Given the description of an element on the screen output the (x, y) to click on. 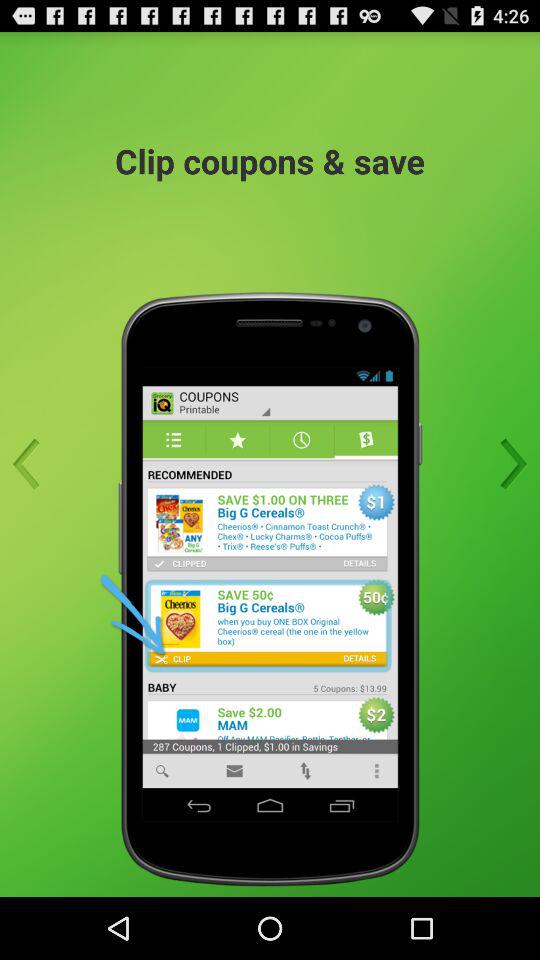
go to next (507, 464)
